Given the description of an element on the screen output the (x, y) to click on. 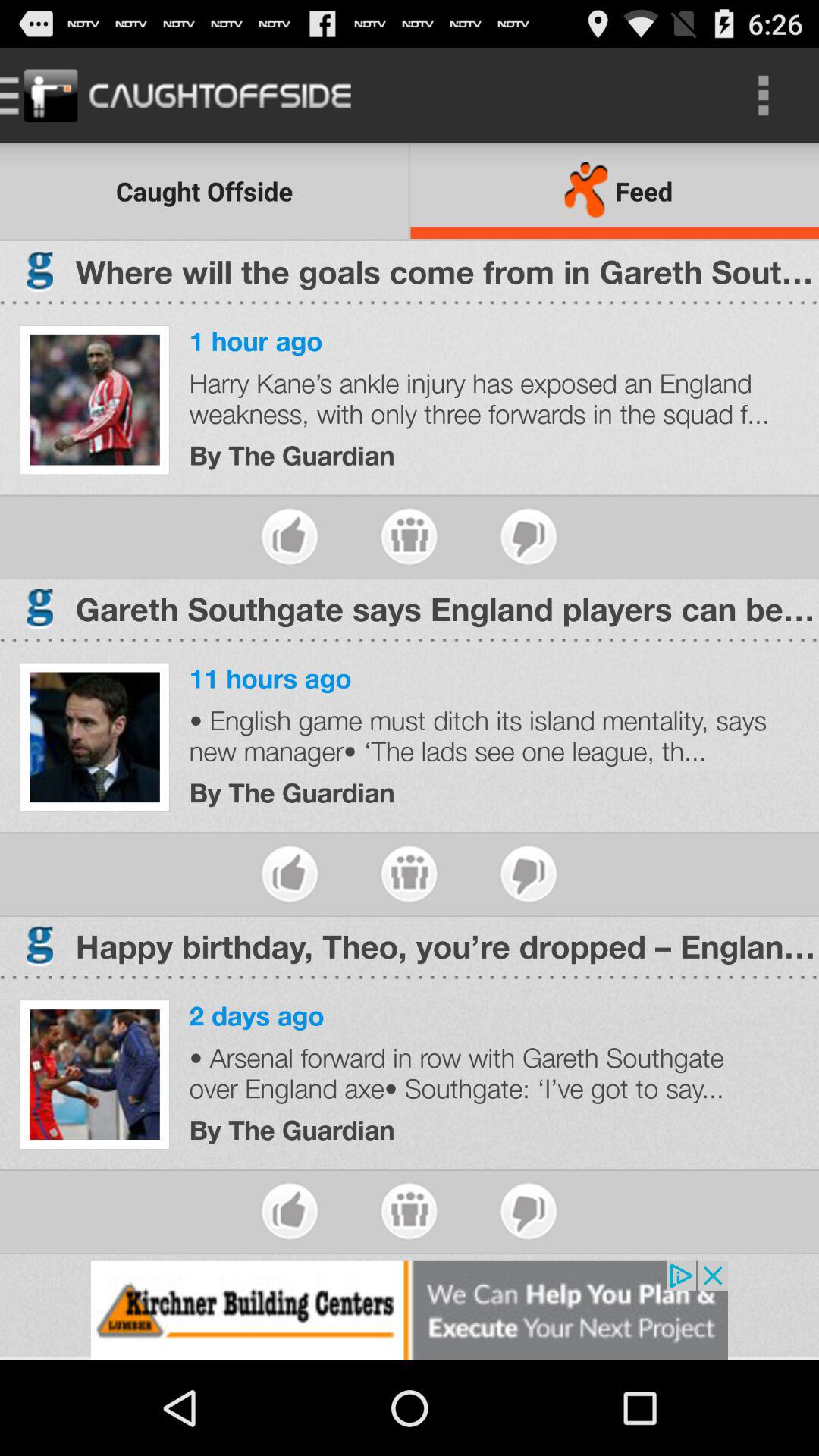
go to previous (409, 1211)
